Given the description of an element on the screen output the (x, y) to click on. 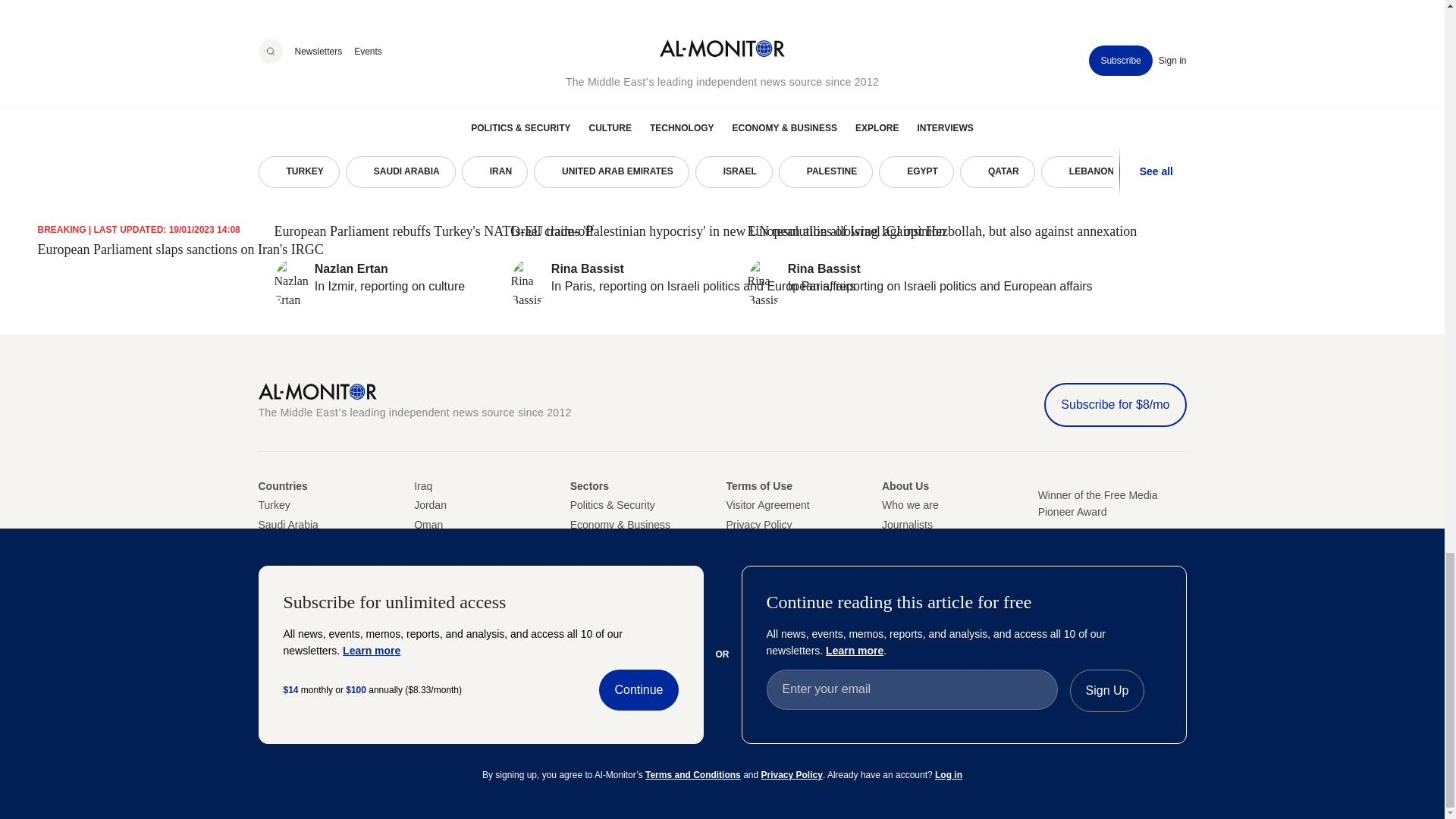
United Arab Amirates (268, 563)
